Given the description of an element on the screen output the (x, y) to click on. 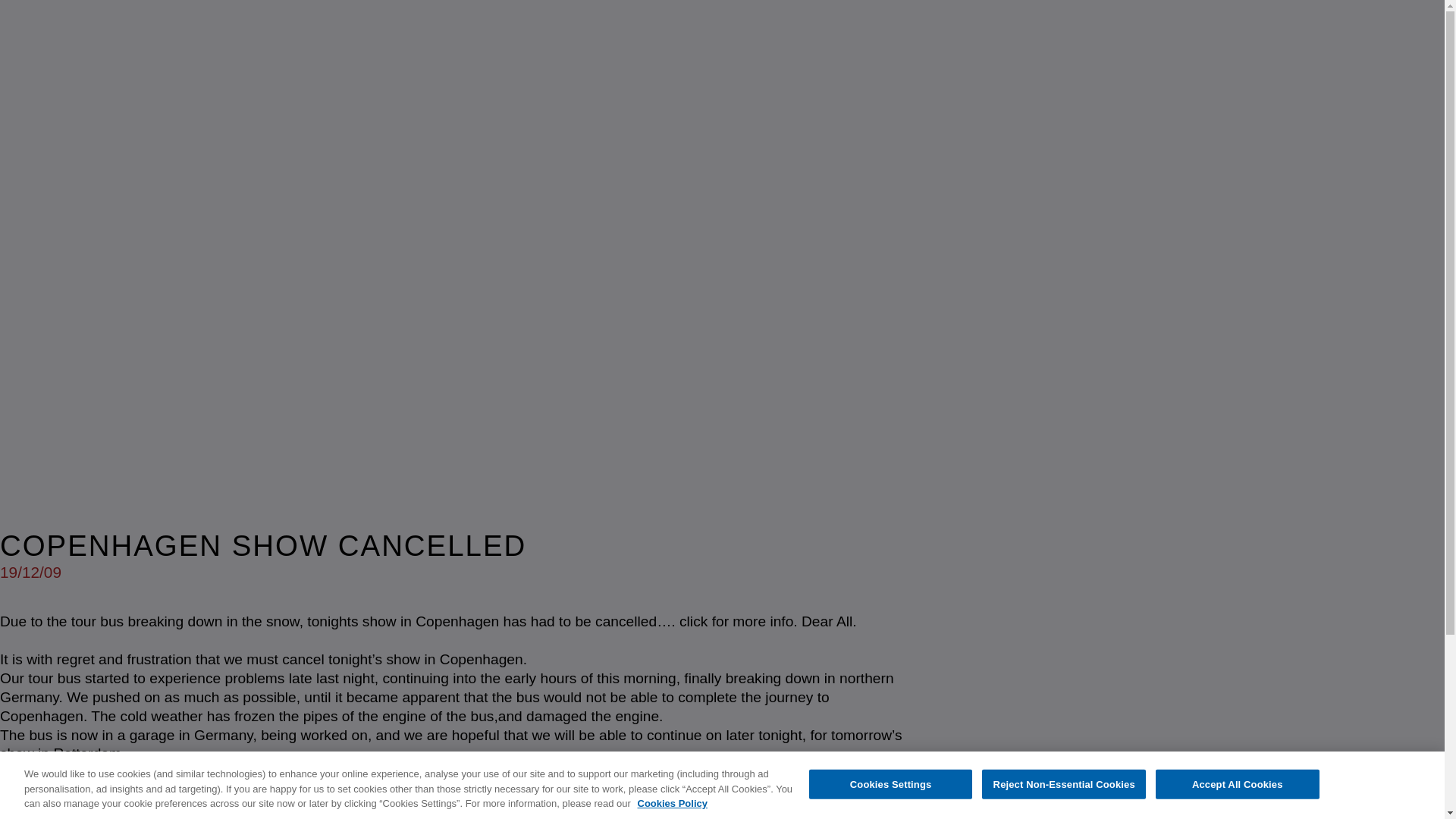
NEWS (607, 795)
Reject Non-Essential Cookies (1063, 784)
LIVE (671, 795)
STORE (903, 795)
Cookies Settings (890, 784)
HOME (537, 795)
Cookies Policy (671, 803)
Accept All Cookies (1237, 784)
VIDEOS (819, 795)
MUSIC (738, 795)
